Given the description of an element on the screen output the (x, y) to click on. 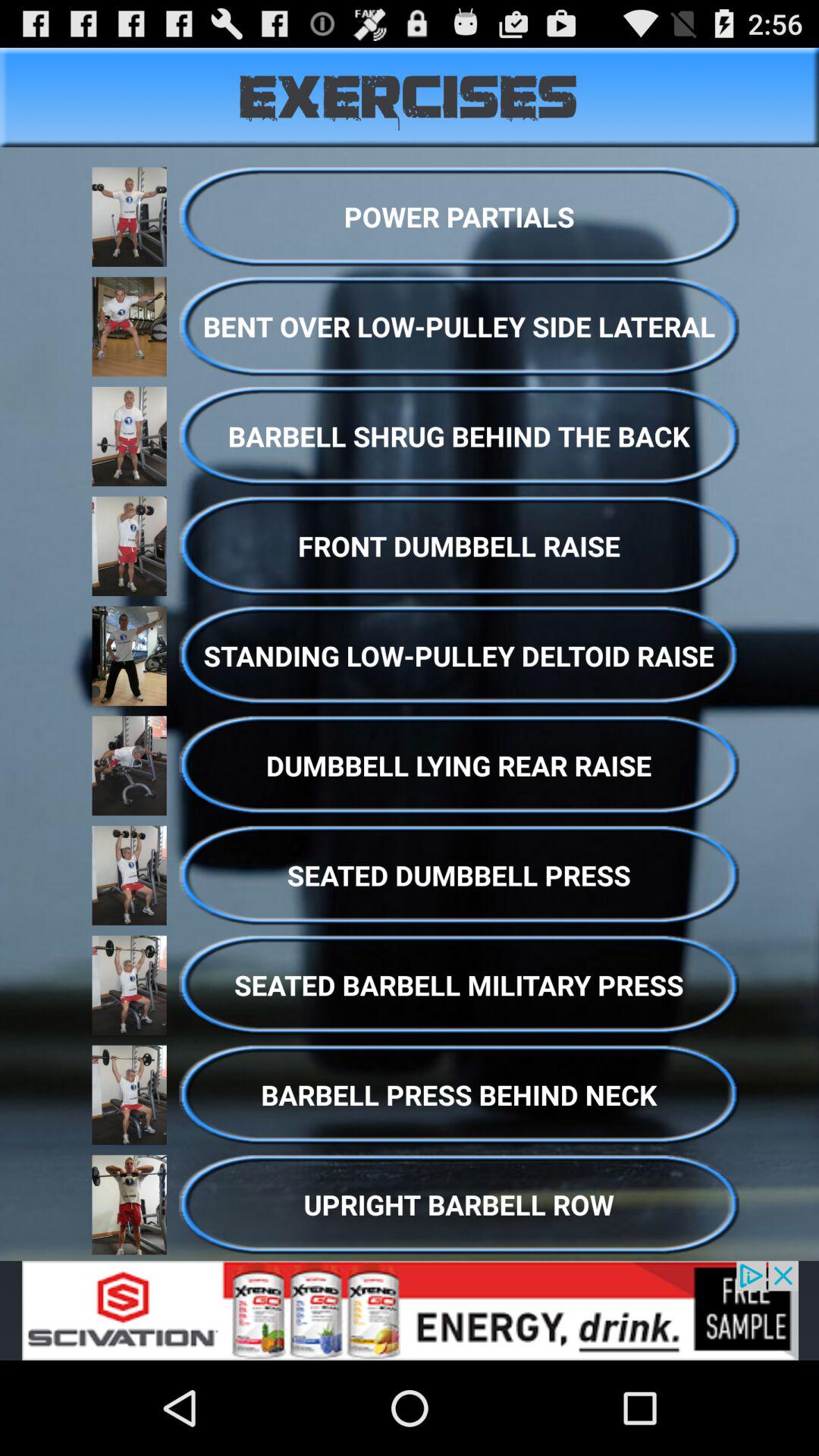
advertisement (409, 1310)
